Given the description of an element on the screen output the (x, y) to click on. 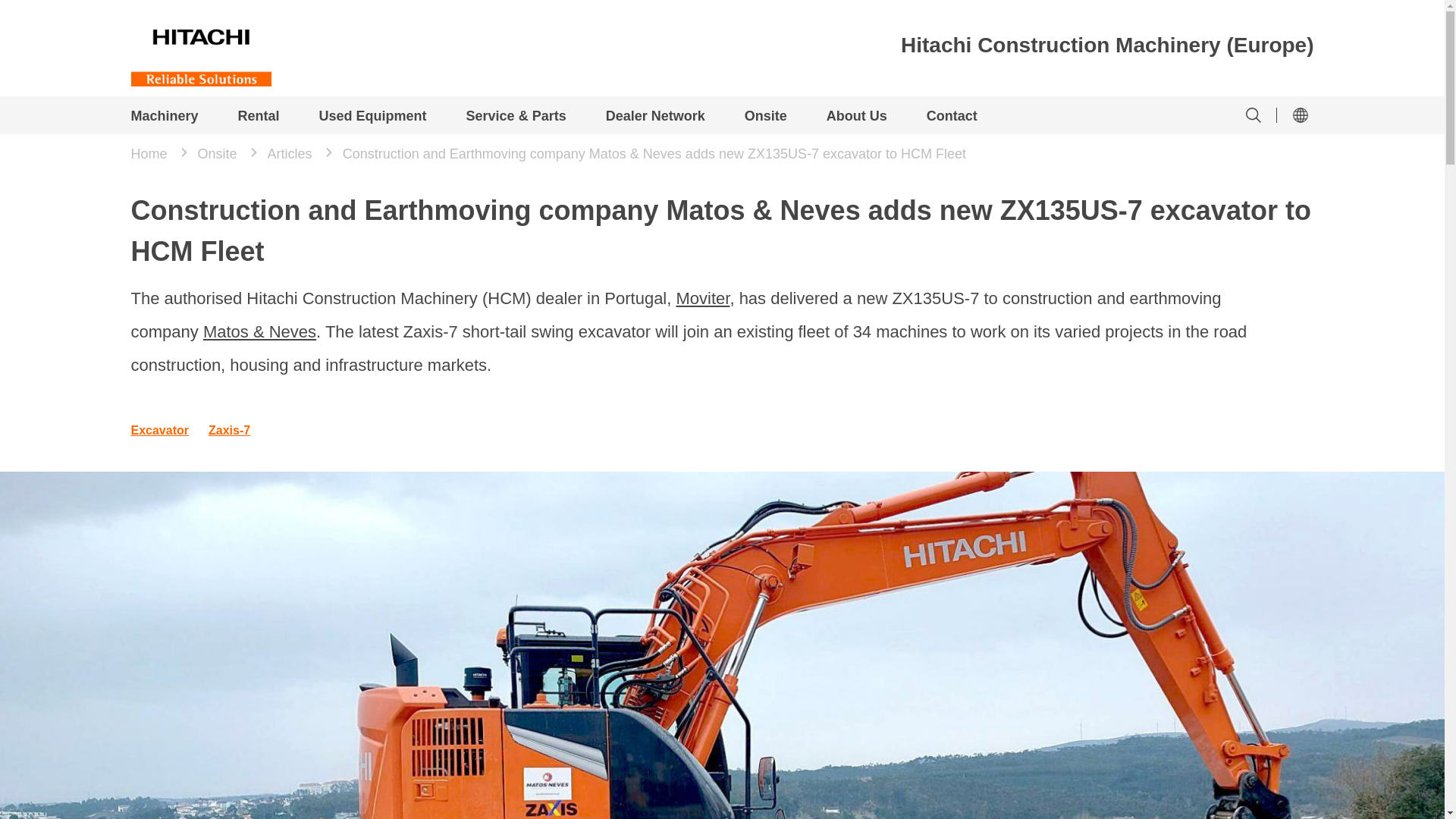
Machinery (164, 116)
Hitachi Construction Machinery  (200, 43)
Rental (258, 116)
Used Equipment (372, 116)
